Given the description of an element on the screen output the (x, y) to click on. 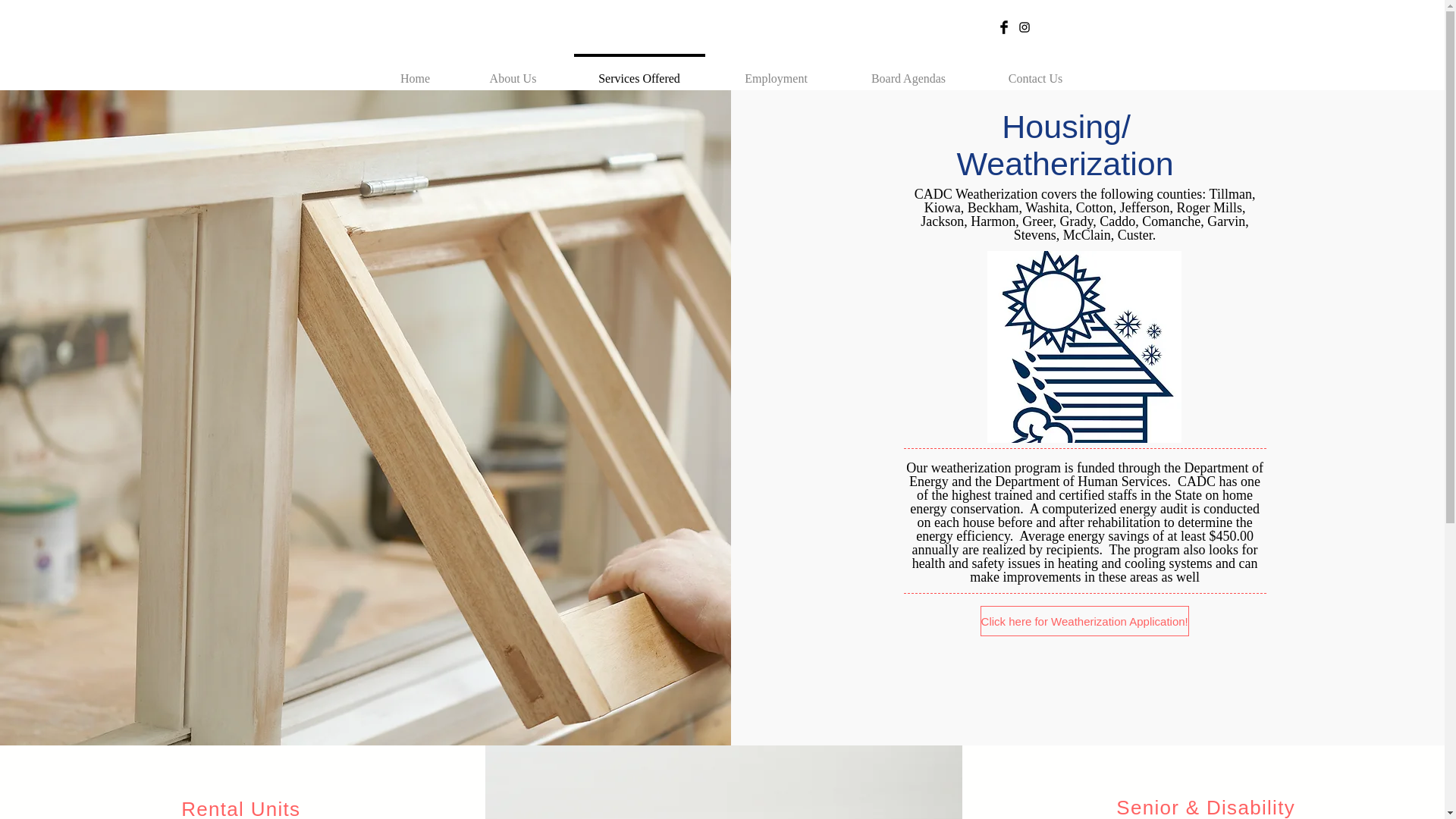
Click here for Weatherization Application! (1084, 621)
About Us (513, 72)
Employment (776, 72)
Home (414, 72)
Contact Us (1034, 72)
Services Offered (638, 72)
Board Agendas (908, 72)
